Given the description of an element on the screen output the (x, y) to click on. 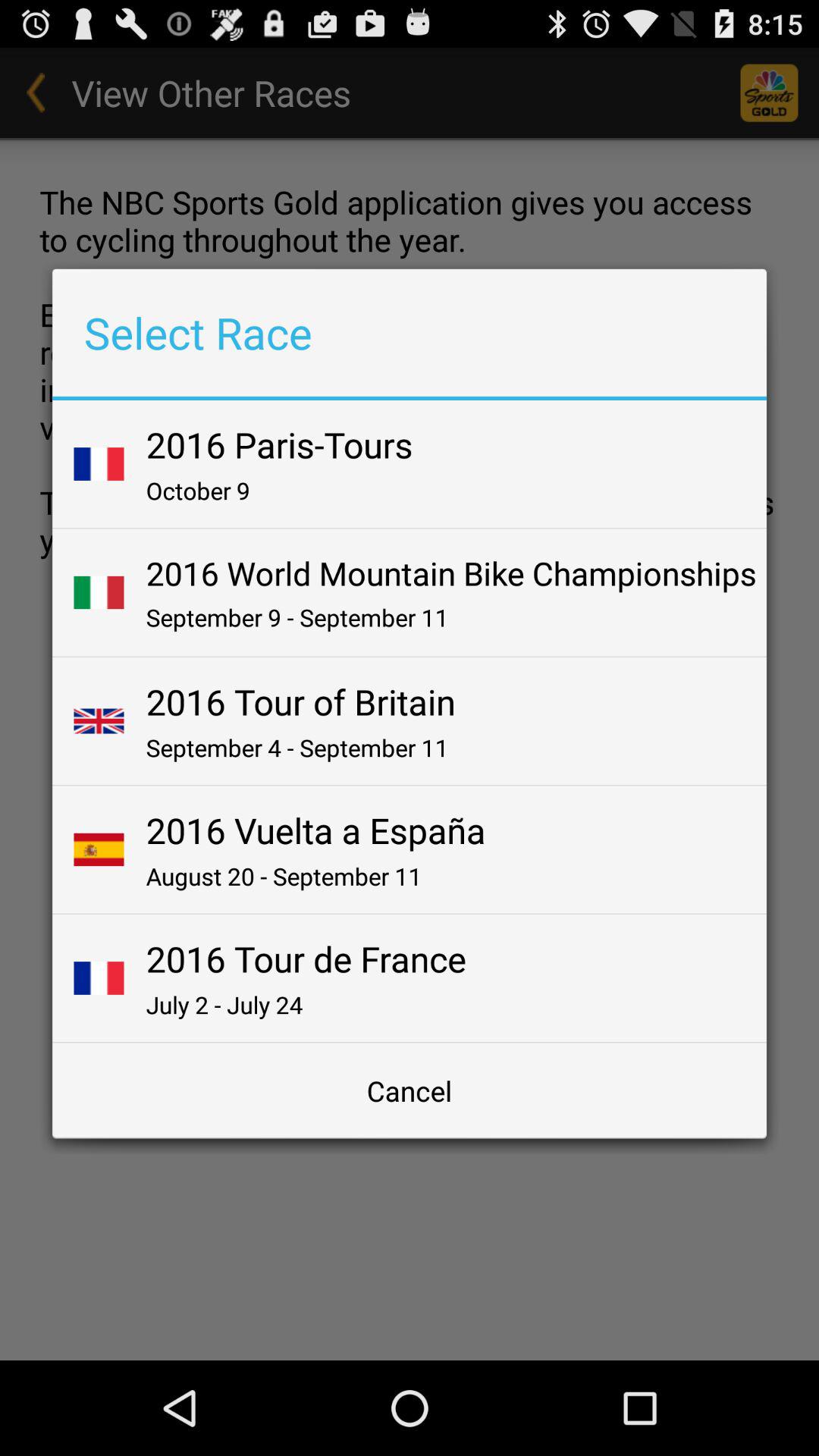
select the cancel item (409, 1090)
